Given the description of an element on the screen output the (x, y) to click on. 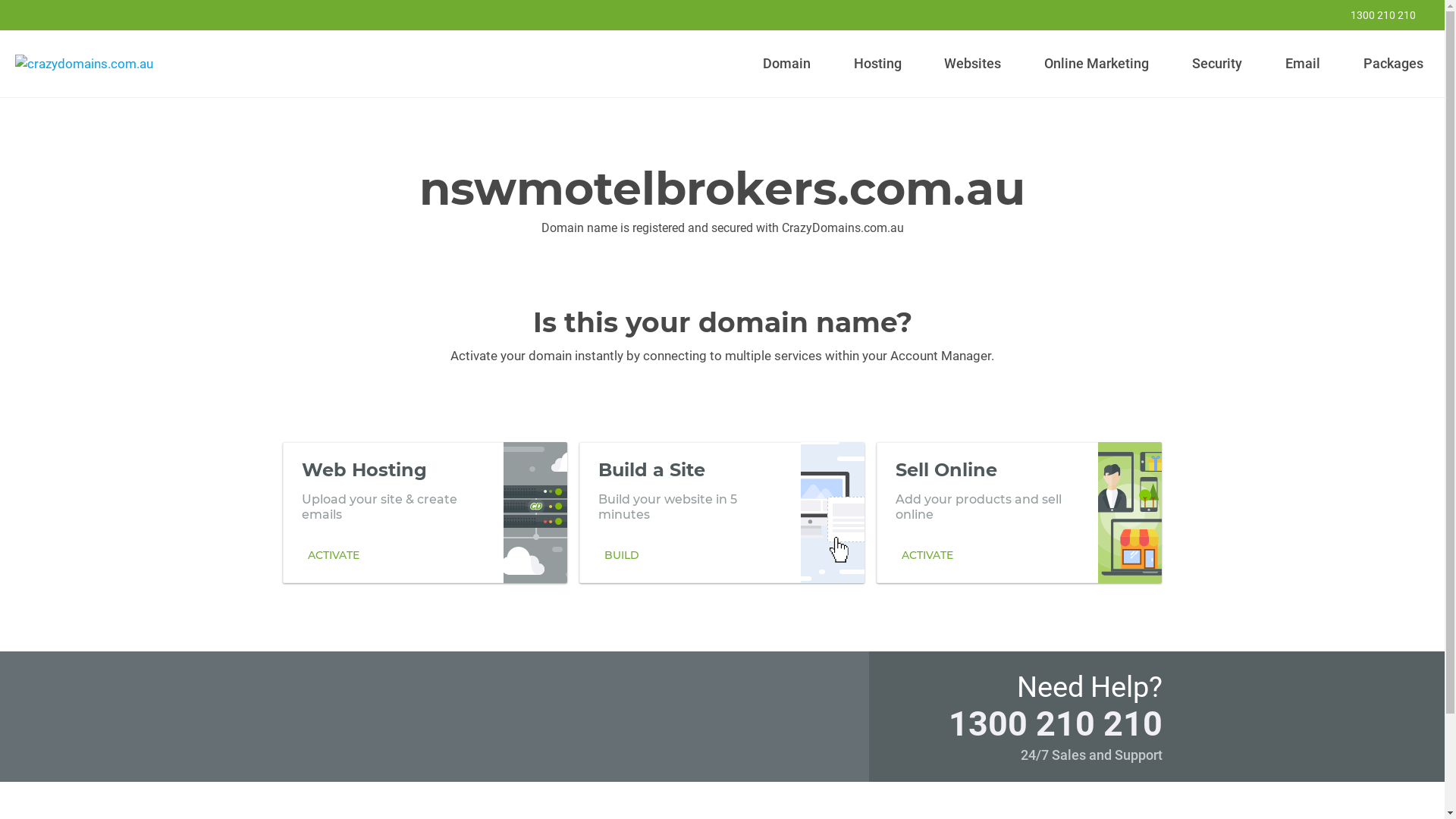
Domain Element type: text (786, 63)
1300 210 210 Element type: text (1054, 723)
1300 210 210 Element type: text (1373, 15)
Email Element type: text (1302, 63)
Web Hosting
Upload your site & create emails
ACTIVATE Element type: text (424, 511)
Websites Element type: text (972, 63)
Security Element type: text (1217, 63)
Build a Site
Build your website in 5 minutes
BUILD Element type: text (721, 511)
Hosting Element type: text (877, 63)
Online Marketing Element type: text (1096, 63)
Sell Online
Add your products and sell online
ACTIVATE Element type: text (1018, 511)
Packages Element type: text (1392, 63)
